Given the description of an element on the screen output the (x, y) to click on. 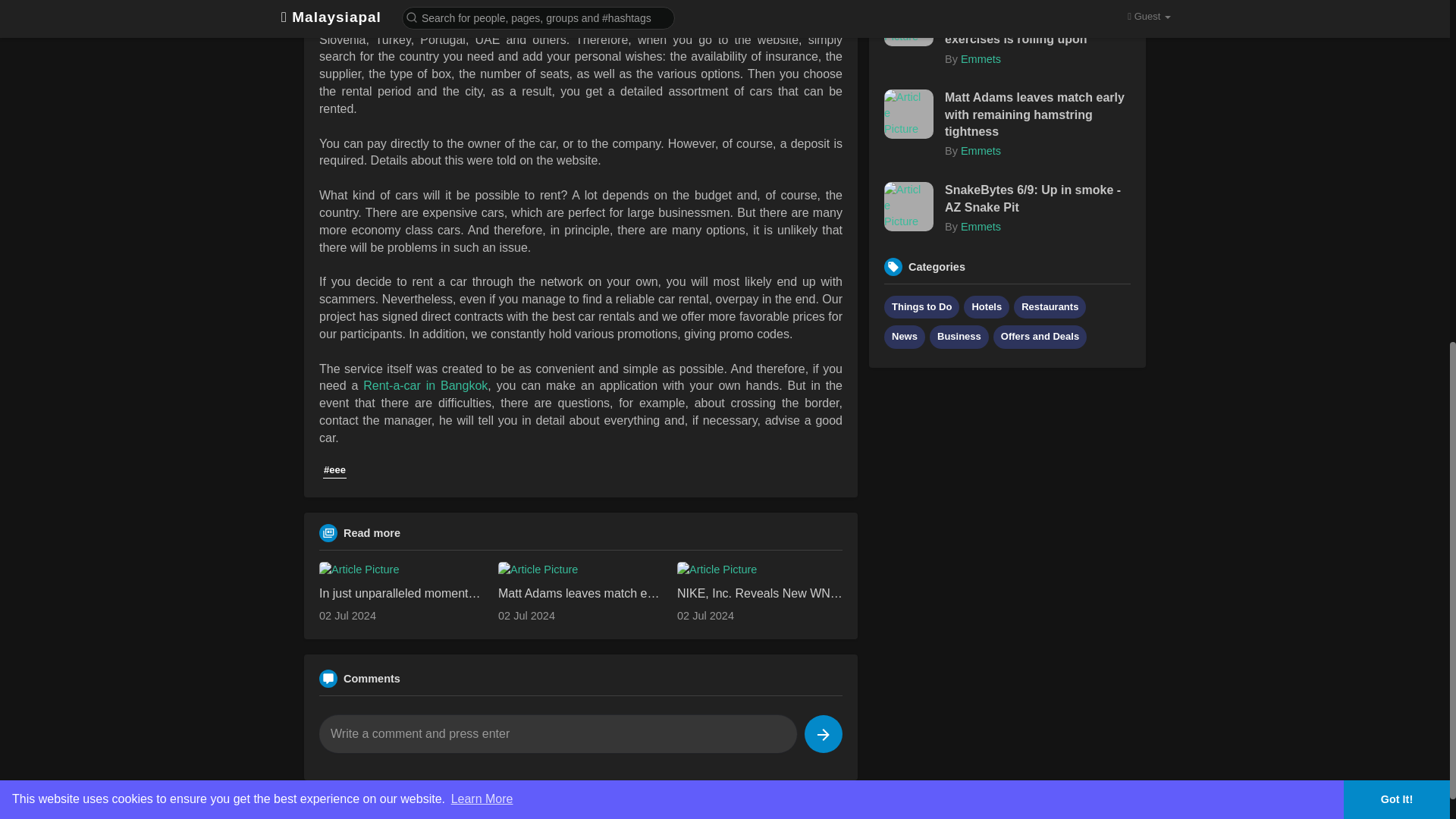
Rent-a-car in Bangkok (424, 385)
Emmets (980, 150)
Emmets (980, 59)
Learn More (481, 184)
NIKE, Inc. Reveals New WNBA Jerseys Ahead of 25th Period (760, 593)
